Given the description of an element on the screen output the (x, y) to click on. 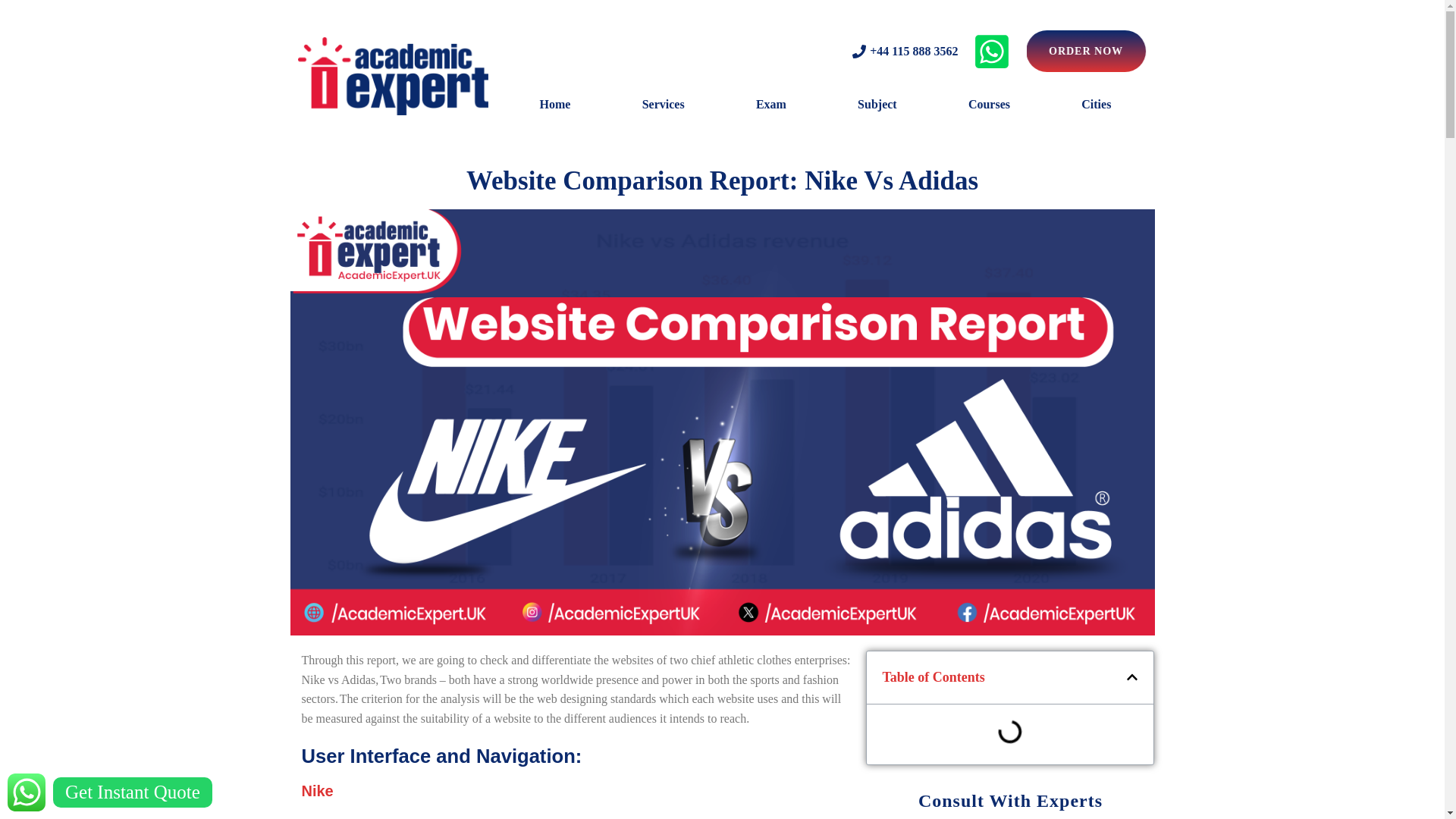
Courses (989, 104)
Exam (771, 104)
ORDER NOW (1085, 50)
Services (663, 104)
Home (554, 104)
Cities (1096, 104)
Subject (877, 104)
